Given the description of an element on the screen output the (x, y) to click on. 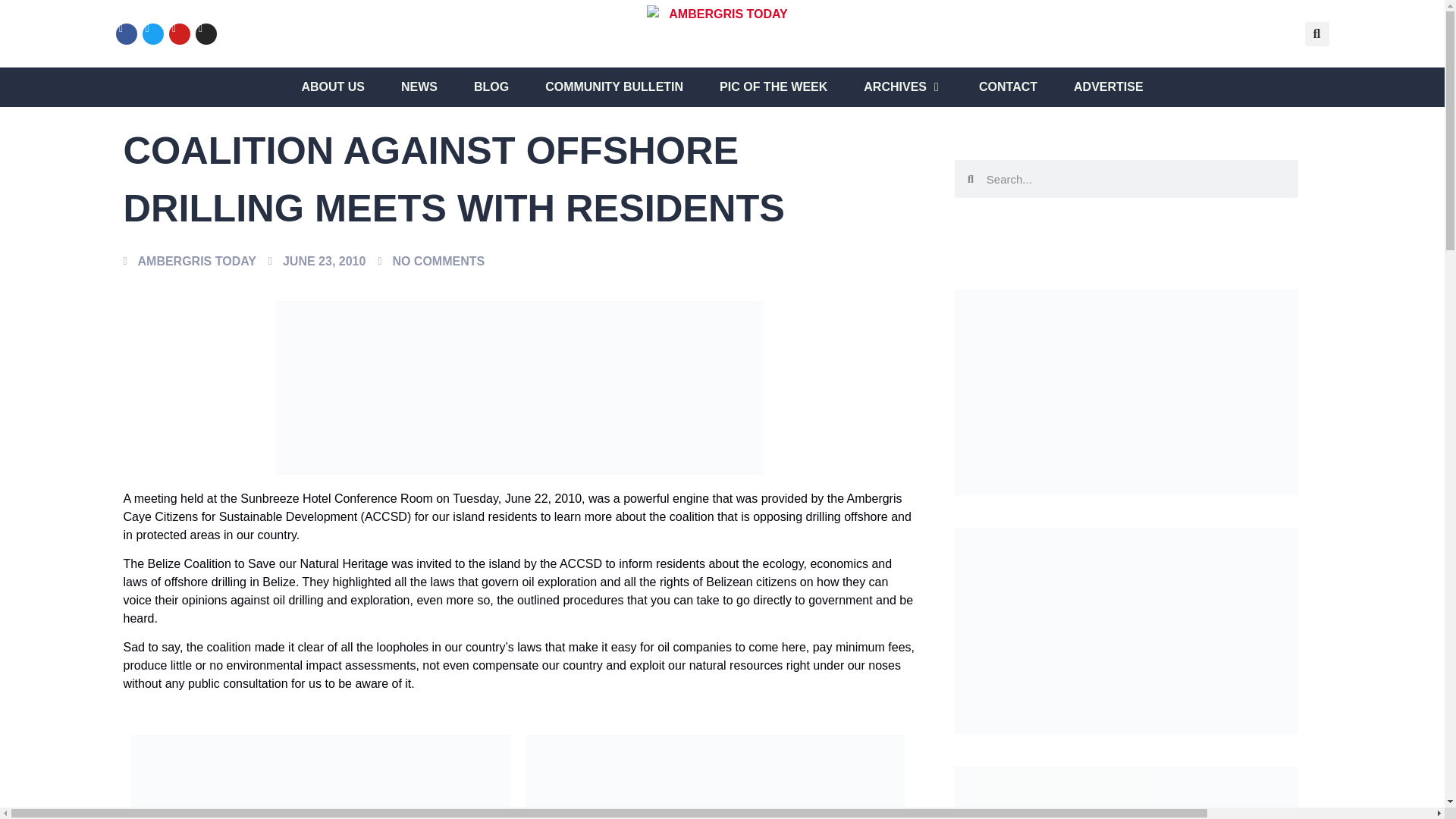
PIC OF THE WEEK (773, 86)
ADVERTISE (1108, 86)
AMBERGRIS TODAY (189, 261)
ABOUT US (333, 86)
CONTACT (1007, 86)
COMMUNITY BULLETIN (613, 86)
ARCHIVES (894, 86)
NEWS (419, 86)
NO COMMENTS (430, 261)
JUNE 23, 2010 (316, 261)
